Given the description of an element on the screen output the (x, y) to click on. 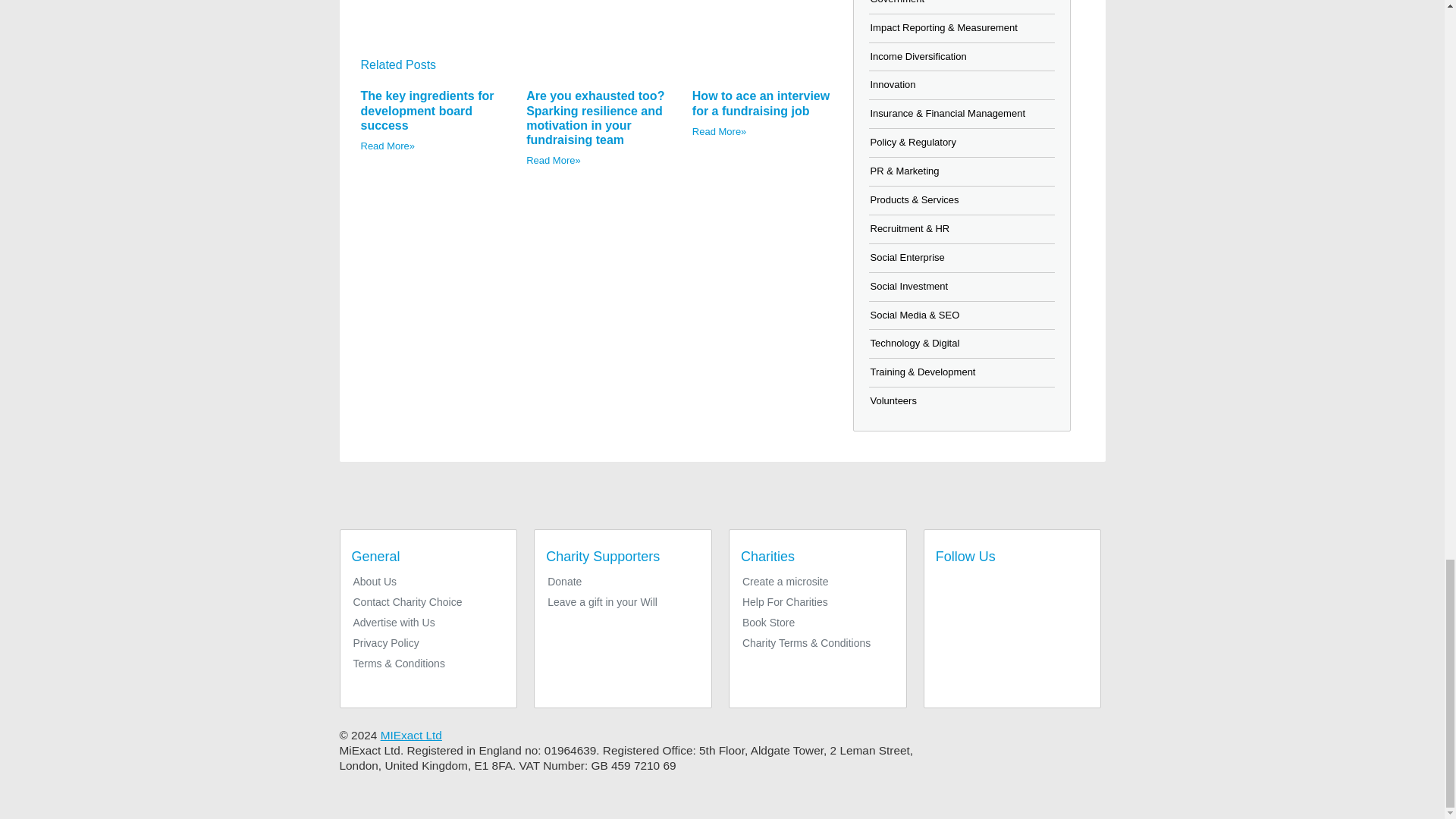
Read More (719, 131)
How to ace an interview for a fundraising job (761, 103)
The key ingredients for development board success (428, 110)
Read More (387, 145)
How to ace an interview for a fundraising job (761, 103)
The key ingredients for development board success (428, 110)
Read More (552, 160)
